Given the description of an element on the screen output the (x, y) to click on. 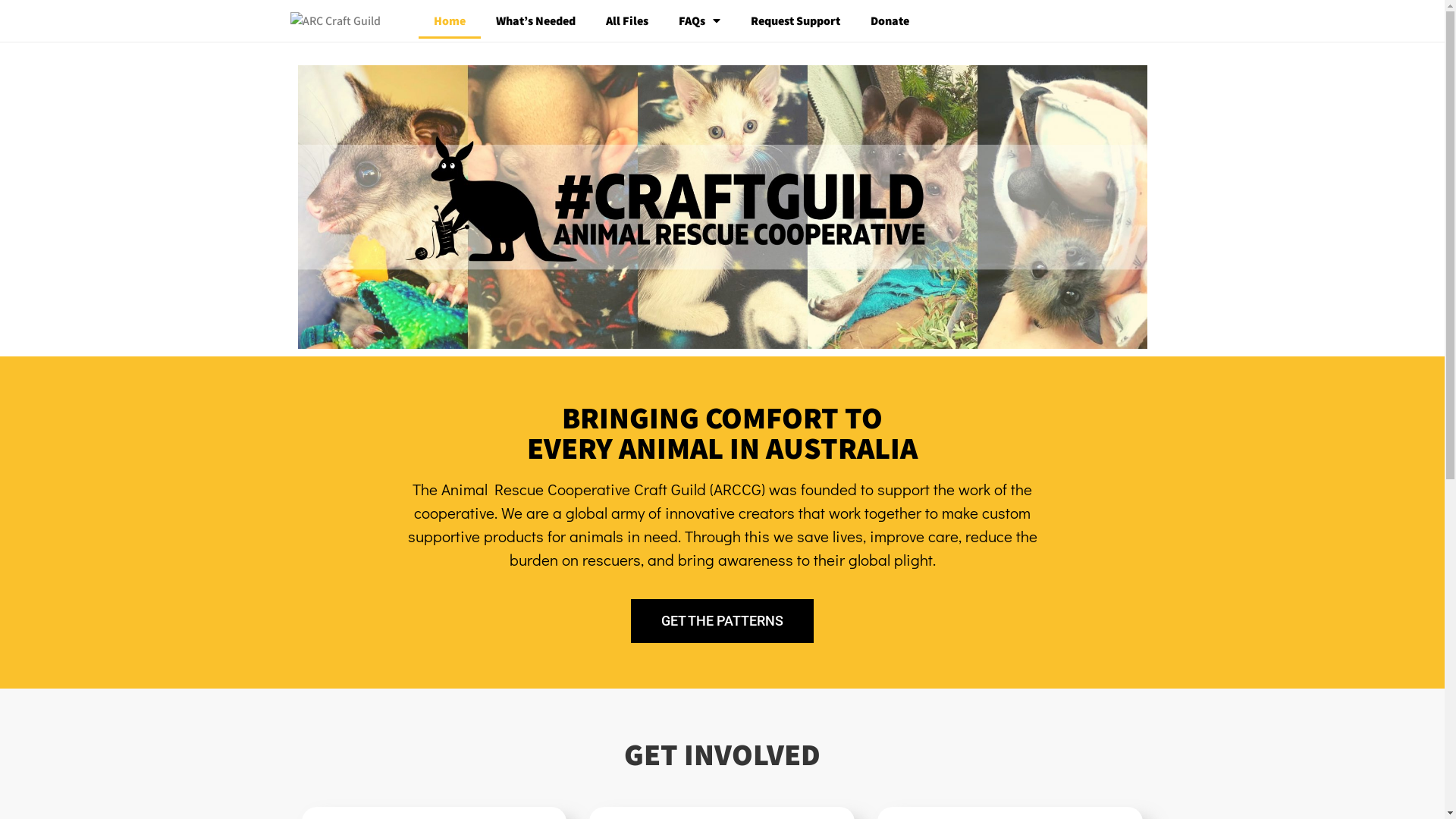
Donate Element type: text (889, 20)
FAQs Element type: text (698, 20)
Home Element type: text (449, 20)
GET THE PATTERNS Element type: text (721, 621)
Request Support Element type: text (795, 20)
All Files Element type: text (625, 20)
